Given the description of an element on the screen output the (x, y) to click on. 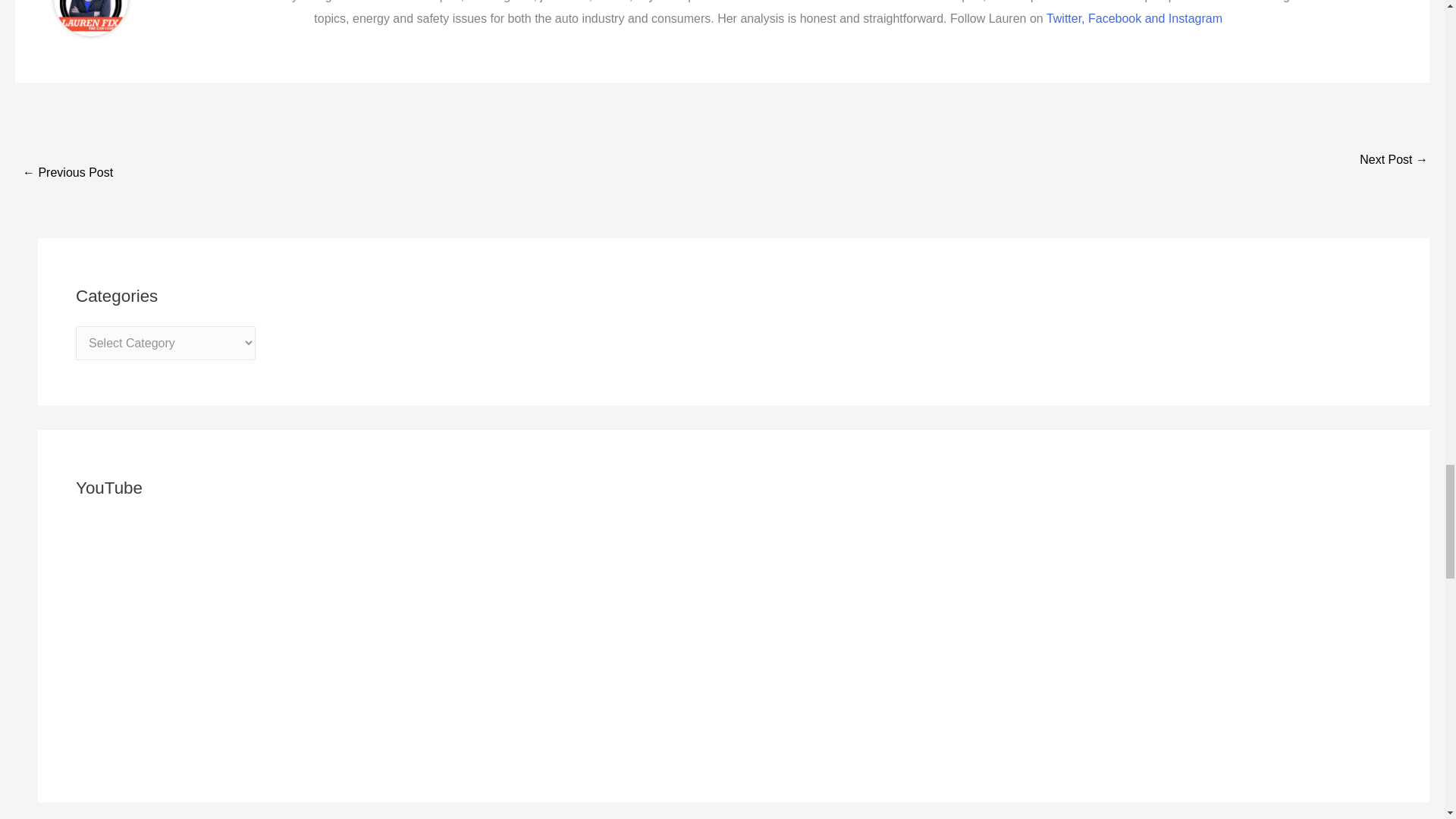
Luxury SUV with Cool Tech - 2018 Audi Q7 (68, 173)
2018 Alfa Romeo Stelvio Quadrifoglio - Power-Packed SUV (1393, 161)
